Given the description of an element on the screen output the (x, y) to click on. 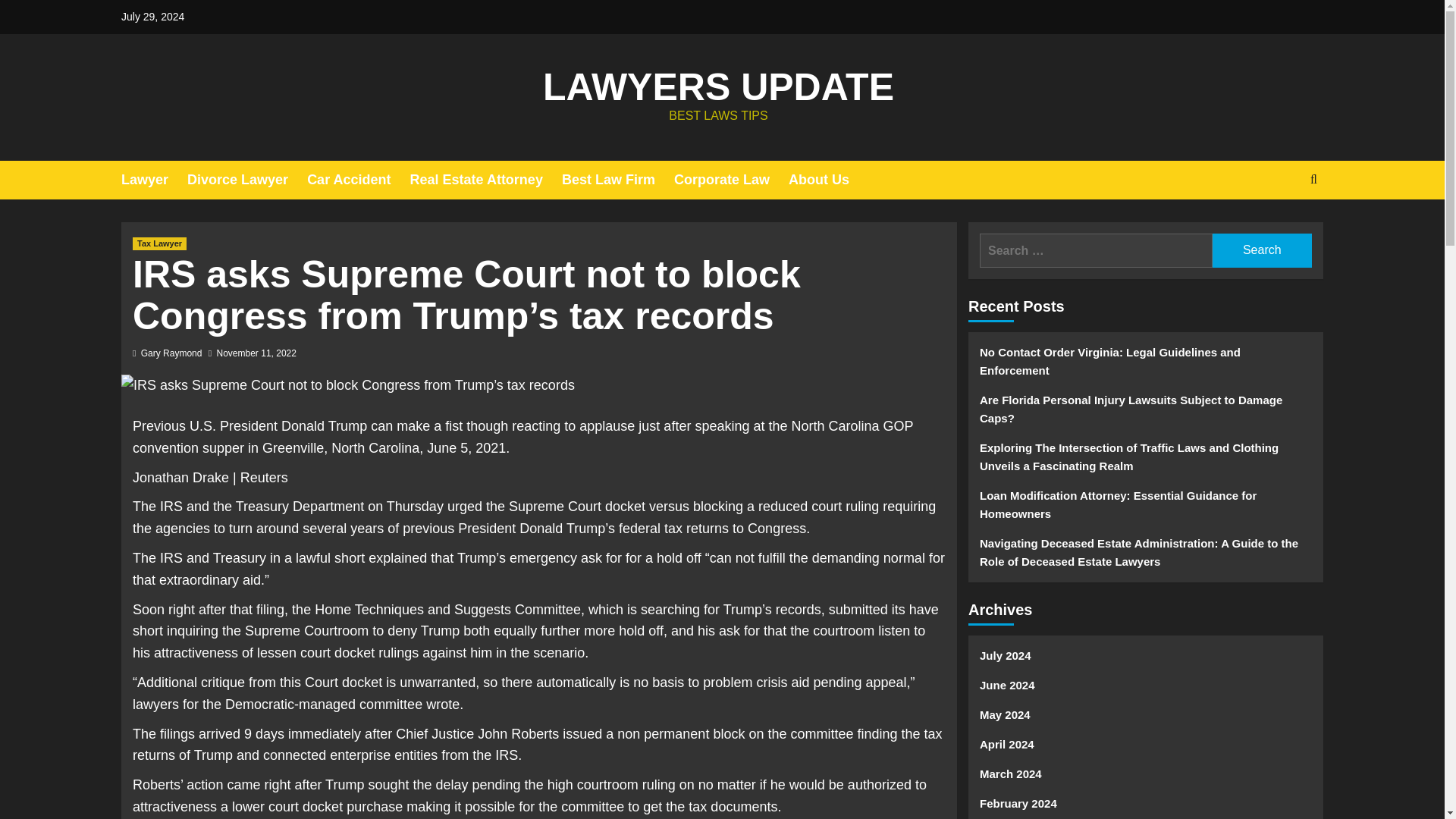
Tax Lawyer (159, 243)
Lawyer (153, 179)
About Us (828, 179)
Real Estate Attorney (484, 179)
Search (1261, 250)
Car Accident (358, 179)
Divorce Lawyer (247, 179)
LAWYERS UPDATE (718, 87)
Corporate Law (731, 179)
Best Law Firm (618, 179)
Search (1261, 250)
Search (1278, 226)
November 11, 2022 (256, 353)
Gary Raymond (171, 353)
